Given the description of an element on the screen output the (x, y) to click on. 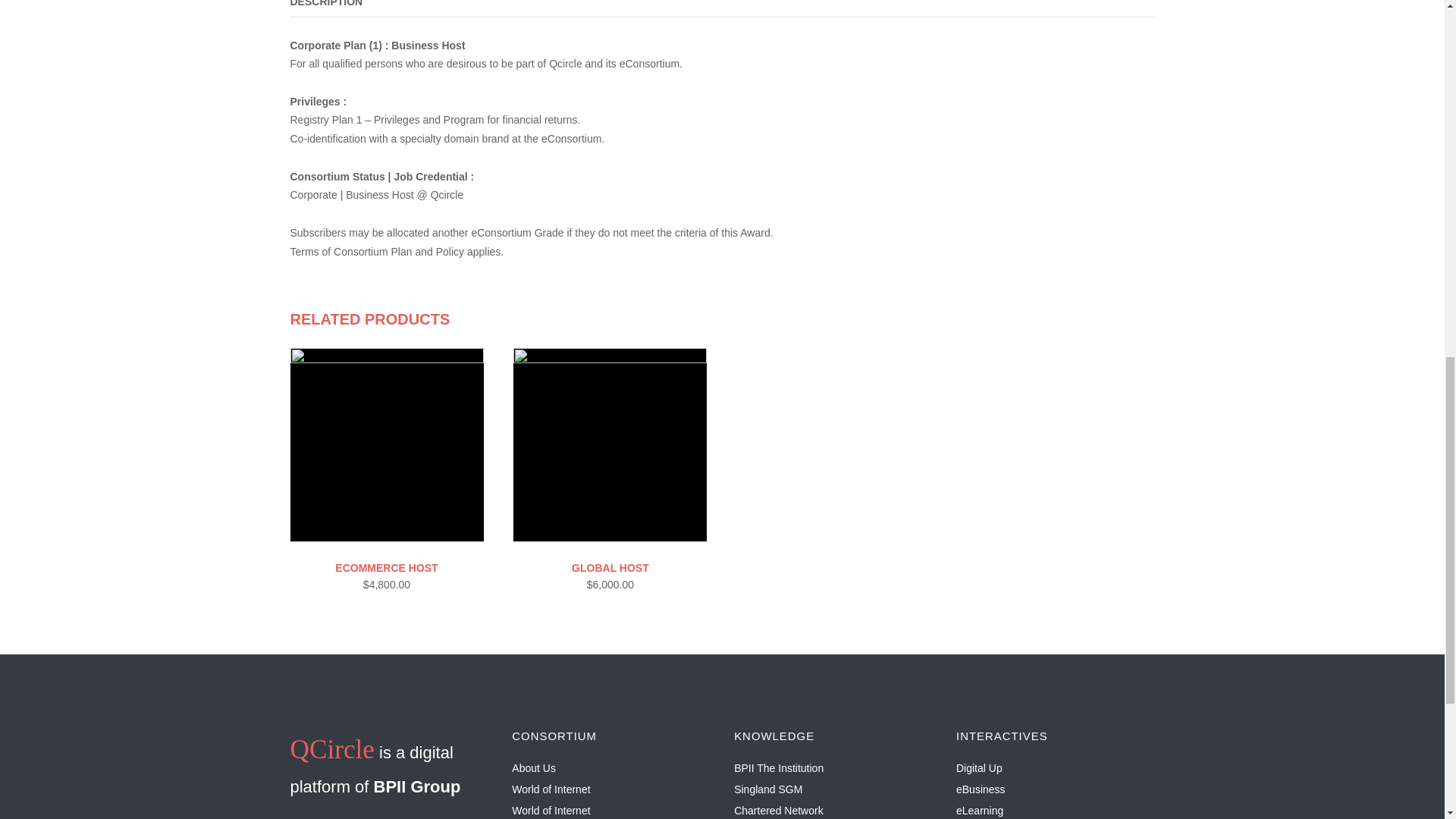
DESCRIPTION (325, 3)
